Given the description of an element on the screen output the (x, y) to click on. 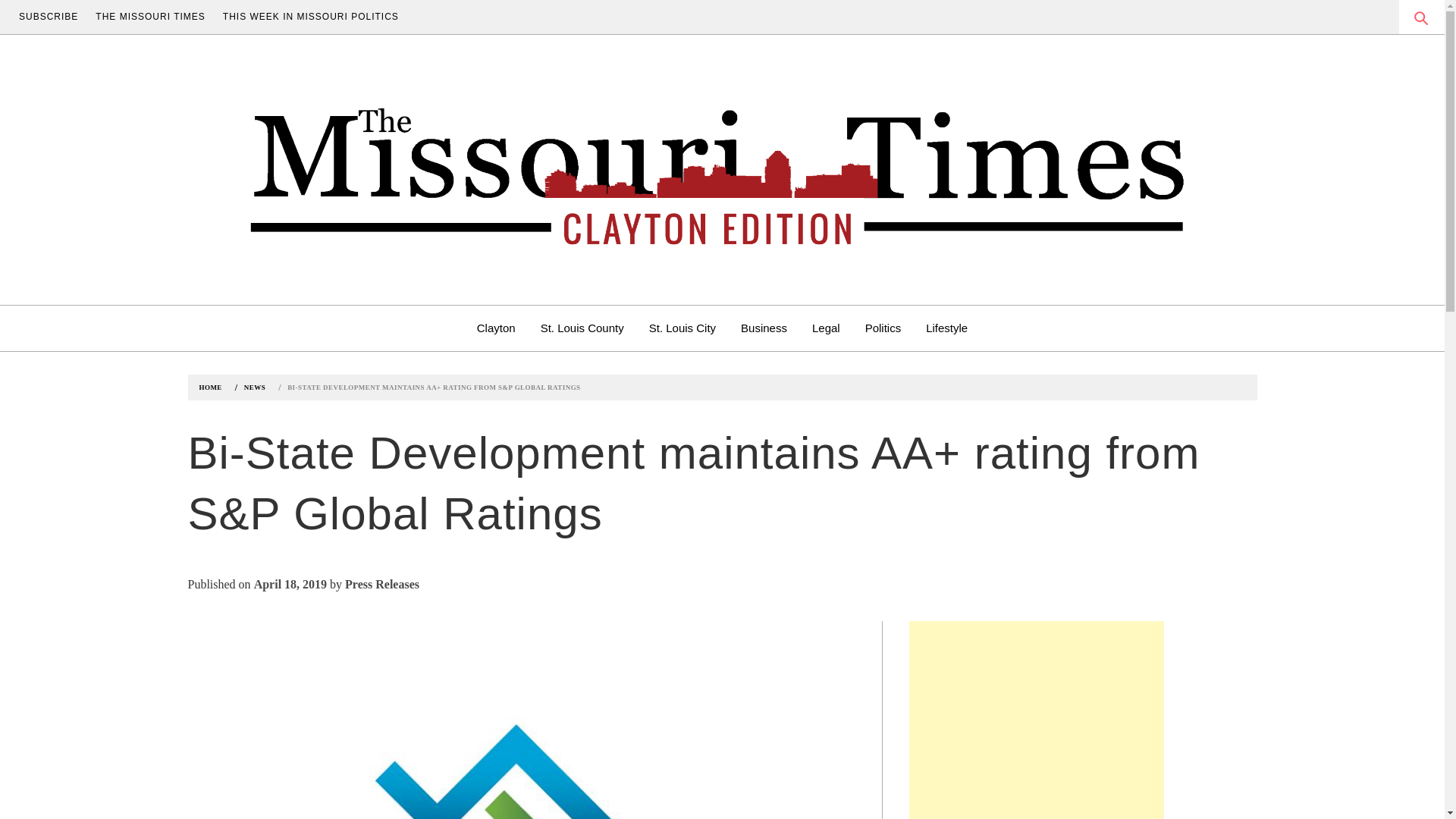
Press Releases (382, 584)
Politics (882, 328)
Legal (825, 328)
CLAYTON TIMES (392, 305)
HOME (212, 387)
Business (763, 328)
Lifestyle (946, 328)
THIS WEEK IN MISSOURI POLITICS (310, 16)
NEWS (252, 387)
